Given the description of an element on the screen output the (x, y) to click on. 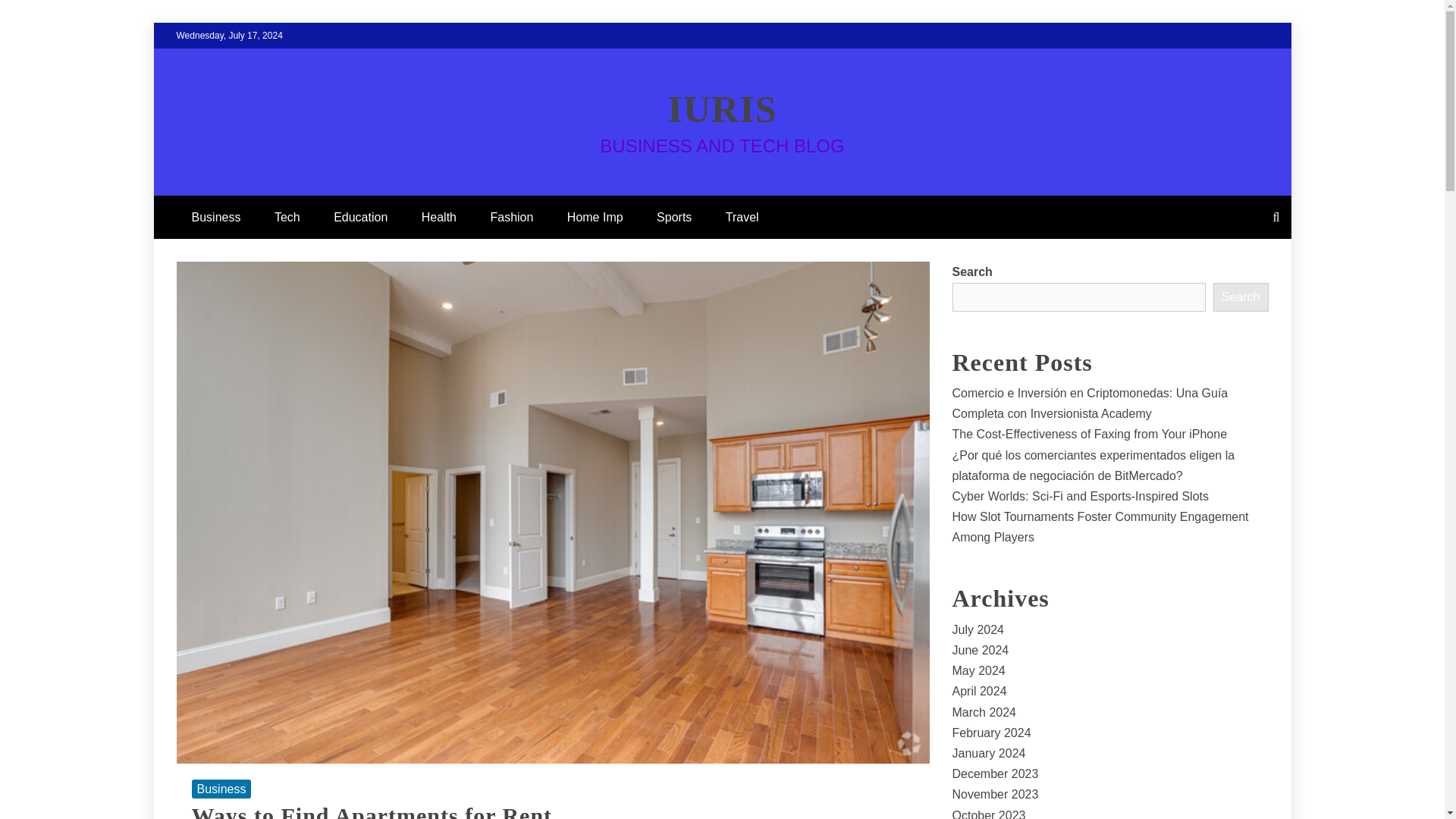
Fashion (511, 217)
IURIS (722, 108)
Business (220, 788)
Search (1240, 297)
The Cost-Effectiveness of Faxing from Your iPhone (1089, 433)
Sports (674, 217)
Business (216, 217)
Home Imp (595, 217)
Tech (287, 217)
Health (438, 217)
Education (360, 217)
Travel (742, 217)
